Given the description of an element on the screen output the (x, y) to click on. 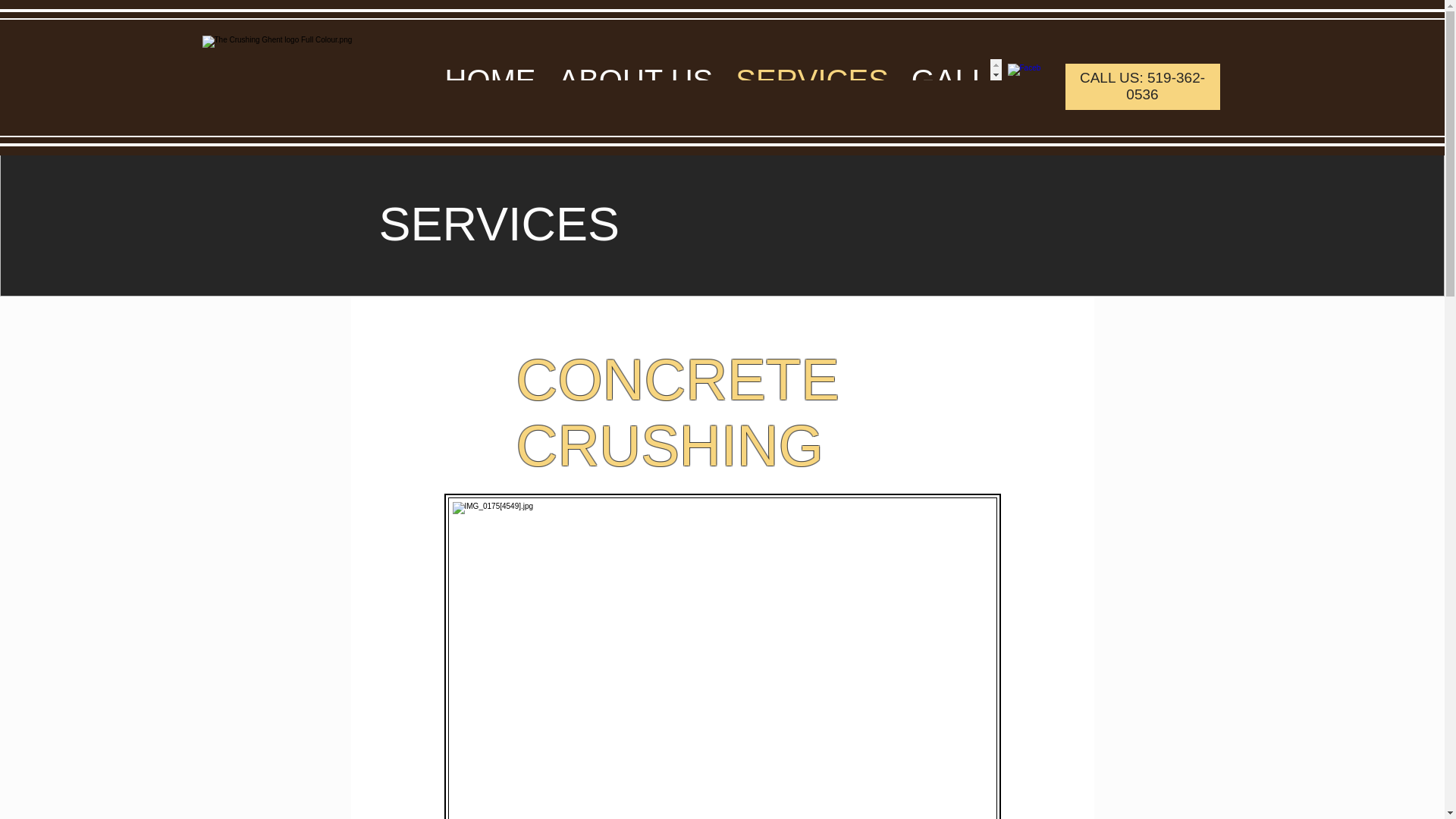
SERVICES (811, 69)
ABOUT US (636, 69)
GALLERY (980, 69)
HOME (490, 69)
